Given the description of an element on the screen output the (x, y) to click on. 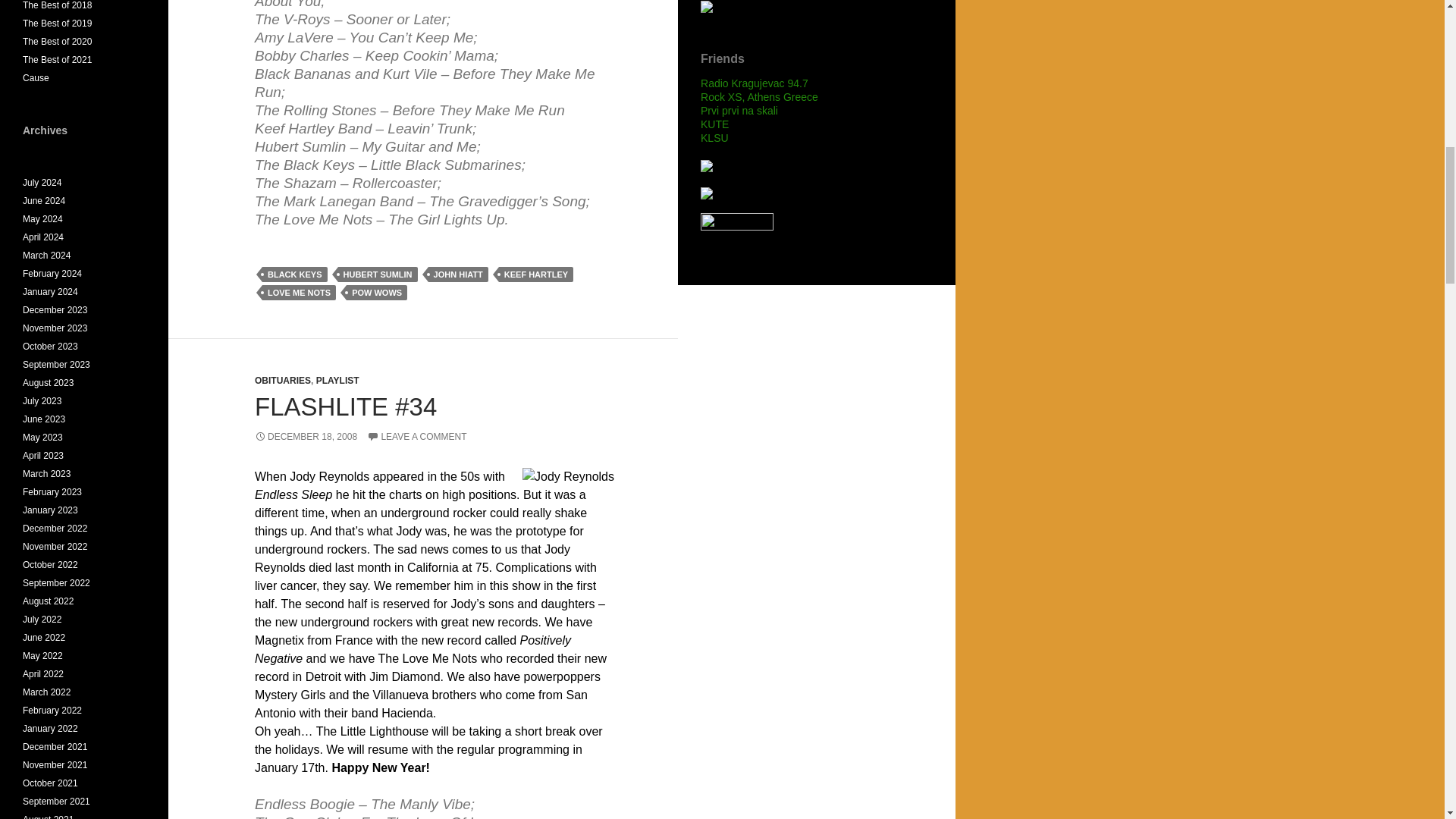
BLACK KEYS (294, 273)
PLAYLIST (337, 380)
LEAVE A COMMENT (415, 436)
OBITUARIES (282, 380)
LOVE ME NOTS (299, 292)
HUBERT SUMLIN (377, 273)
POW WOWS (376, 292)
KEEF HARTLEY (536, 273)
DECEMBER 18, 2008 (305, 436)
JOHN HIATT (457, 273)
